Given the description of an element on the screen output the (x, y) to click on. 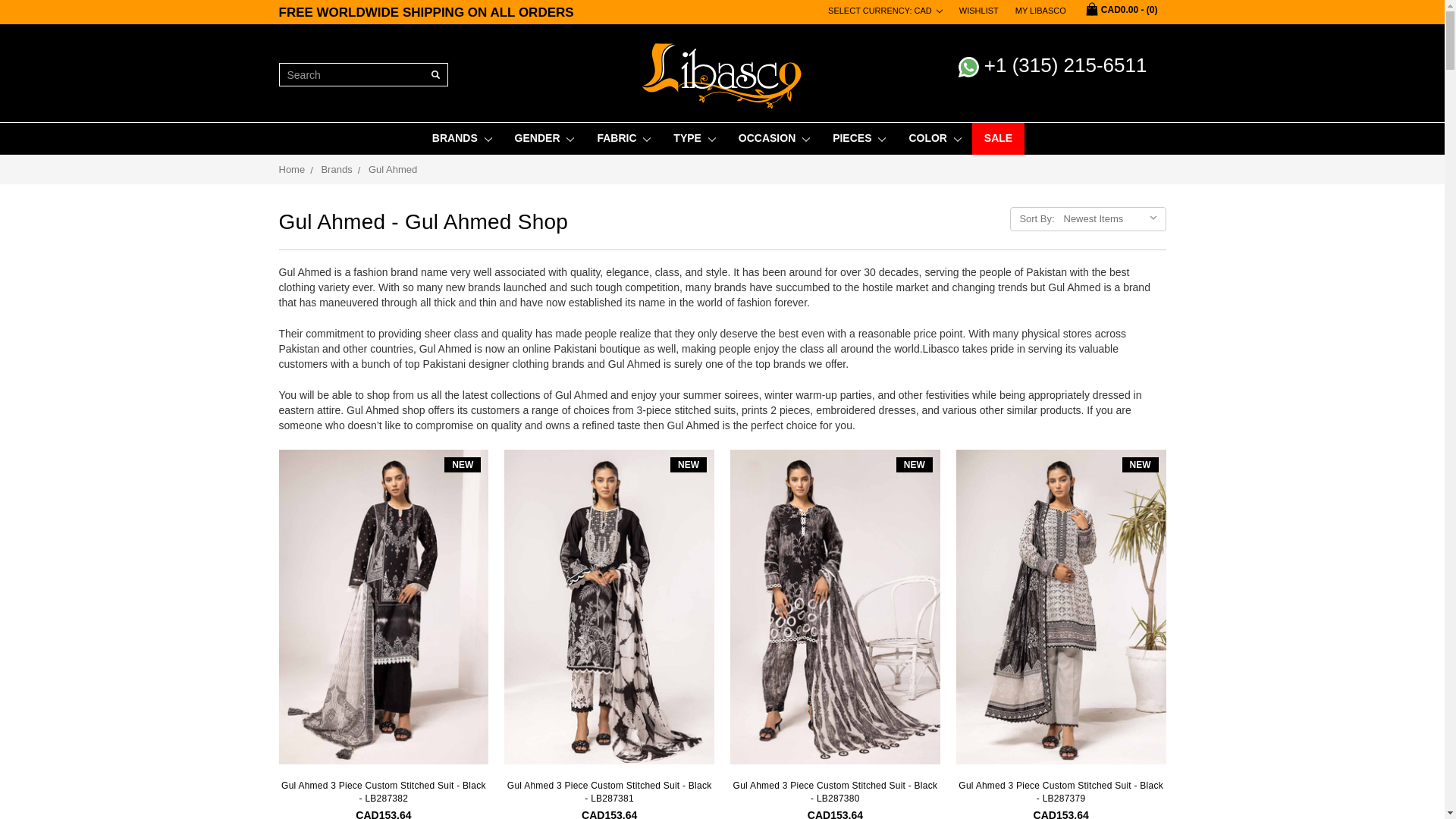
BRANDS (461, 137)
WISHLIST (978, 11)
SELECT CURRENCY: CAD (884, 11)
MY LIBASCO (1040, 11)
LIBASCO (722, 75)
